Given the description of an element on the screen output the (x, y) to click on. 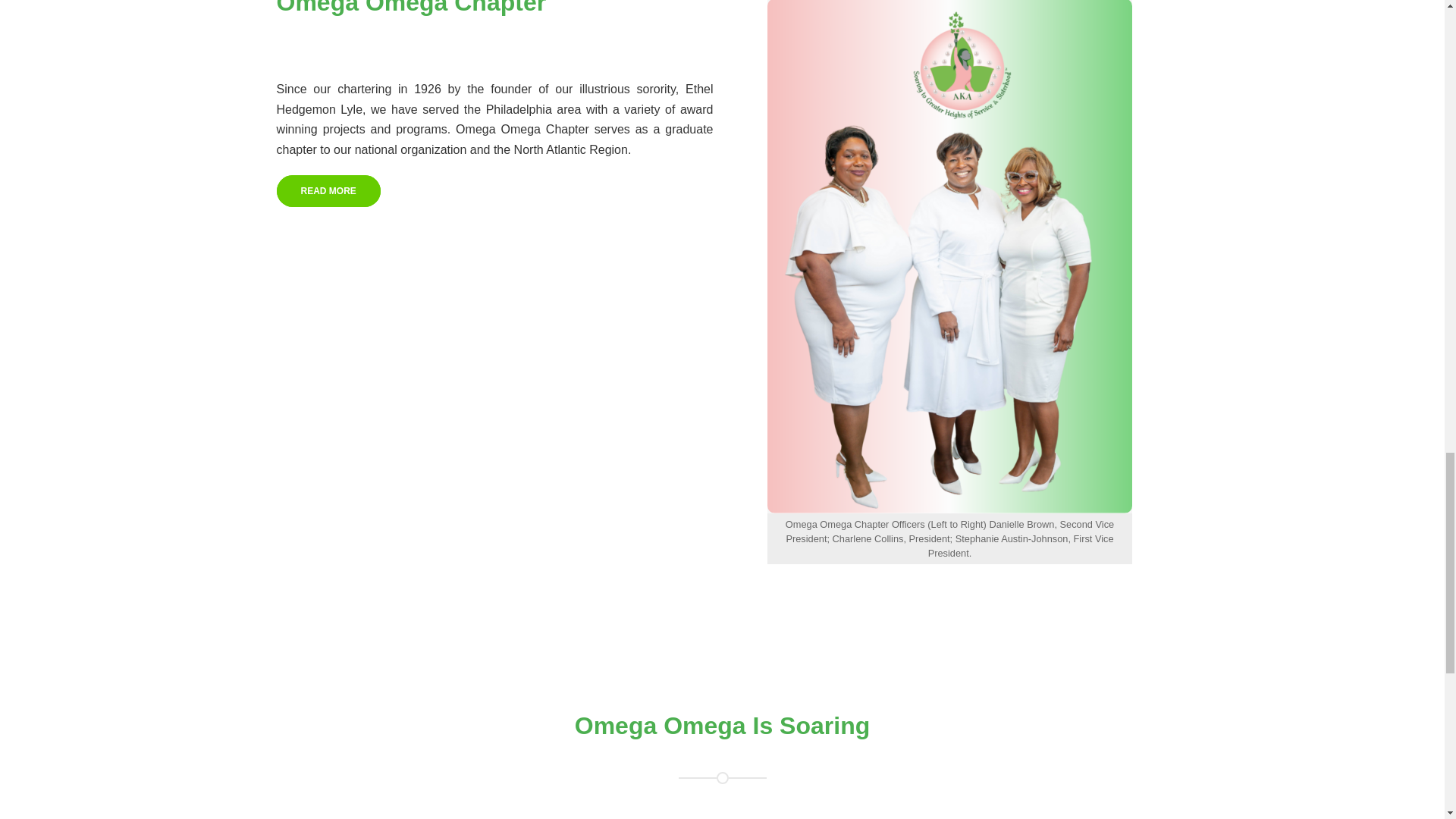
Omega Omega Is Soaring (722, 725)
READ MORE (328, 191)
